Given the description of an element on the screen output the (x, y) to click on. 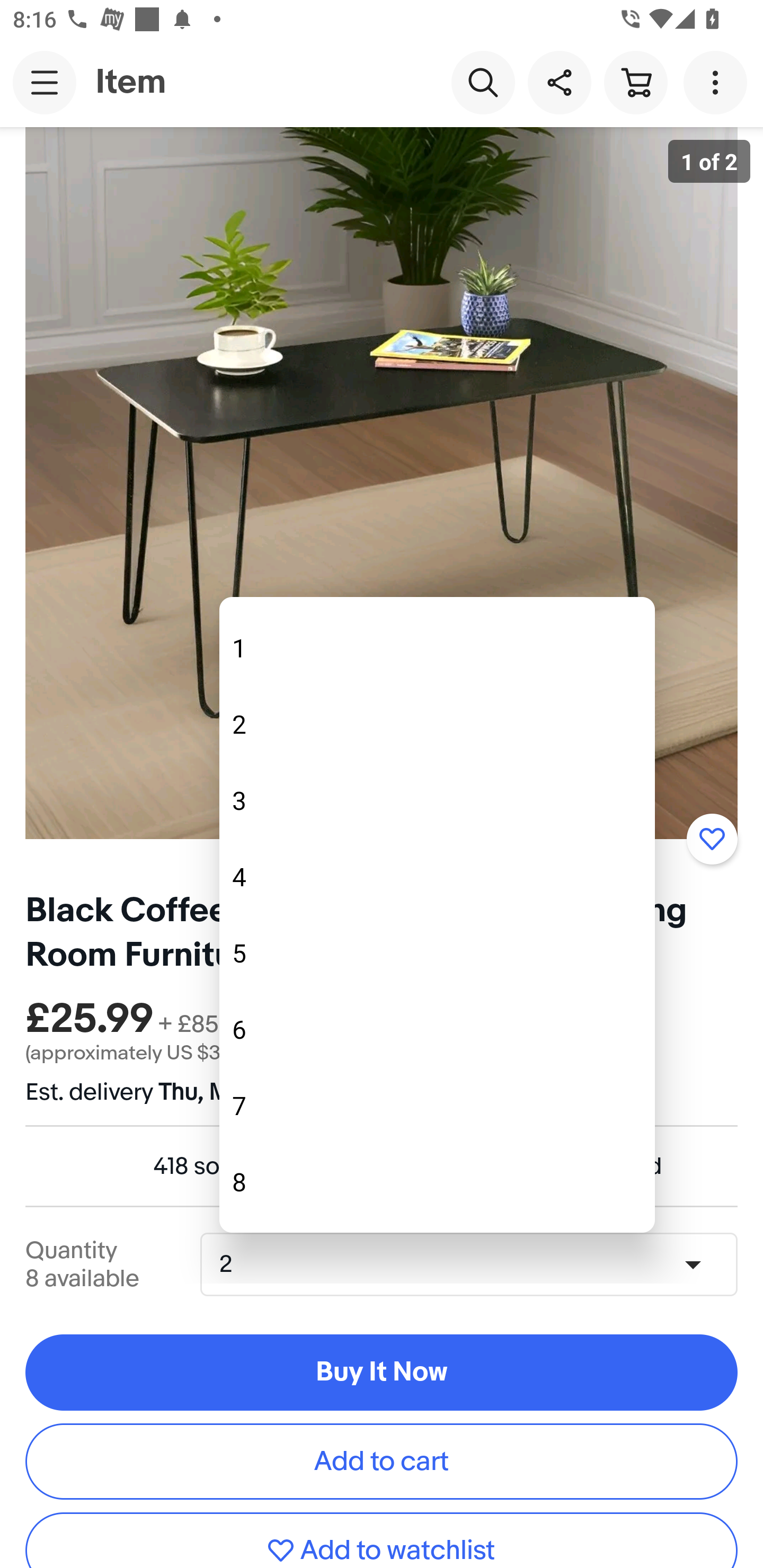
1 (436, 647)
2 (436, 724)
3 (436, 800)
4 (436, 876)
5 (436, 952)
6 (436, 1028)
7 (436, 1105)
8 (436, 1181)
